Given the description of an element on the screen output the (x, y) to click on. 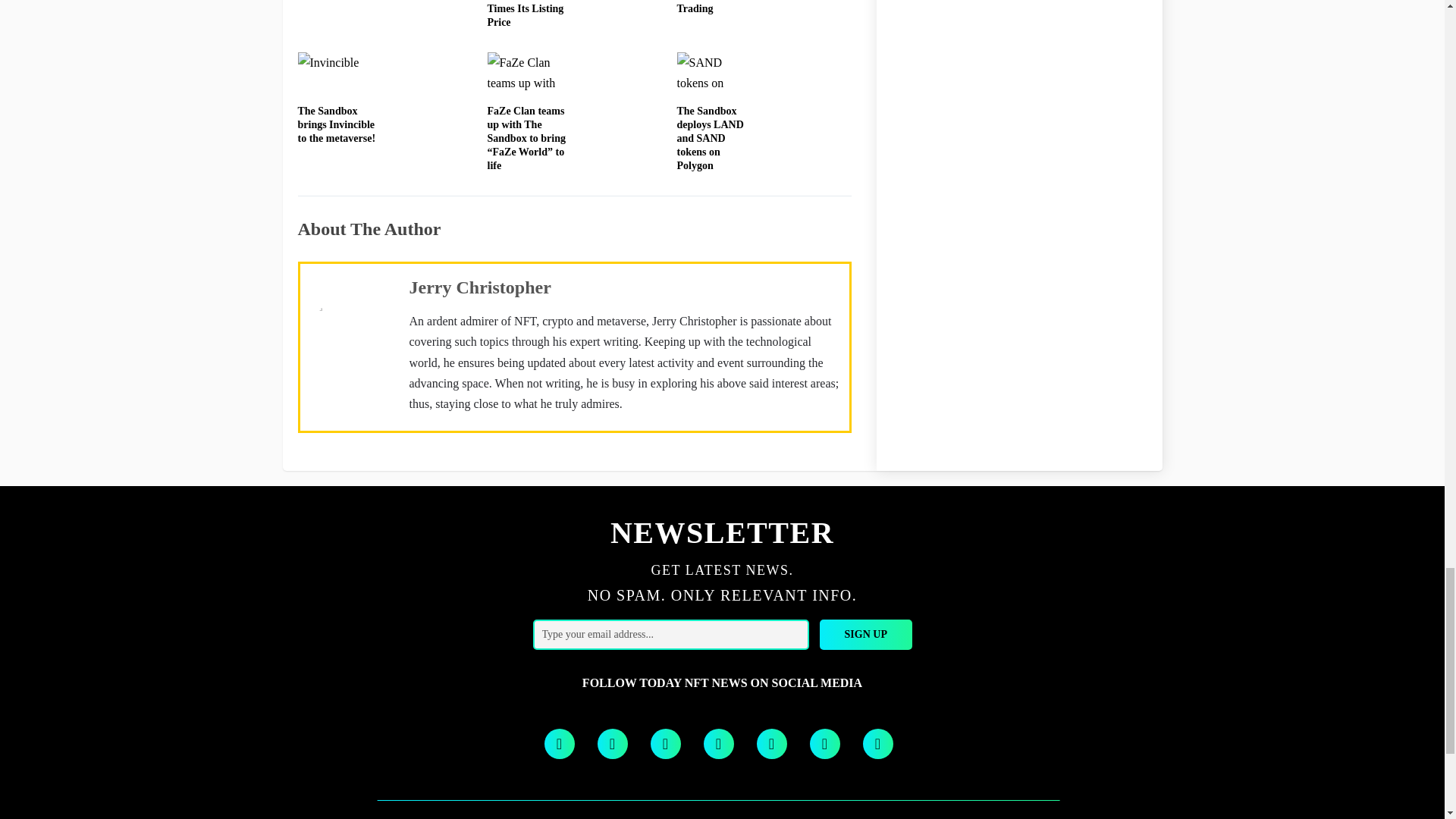
SIGN UP (865, 634)
The Sandbox brings Invincible to the metaverse! (336, 124)
